Given the description of an element on the screen output the (x, y) to click on. 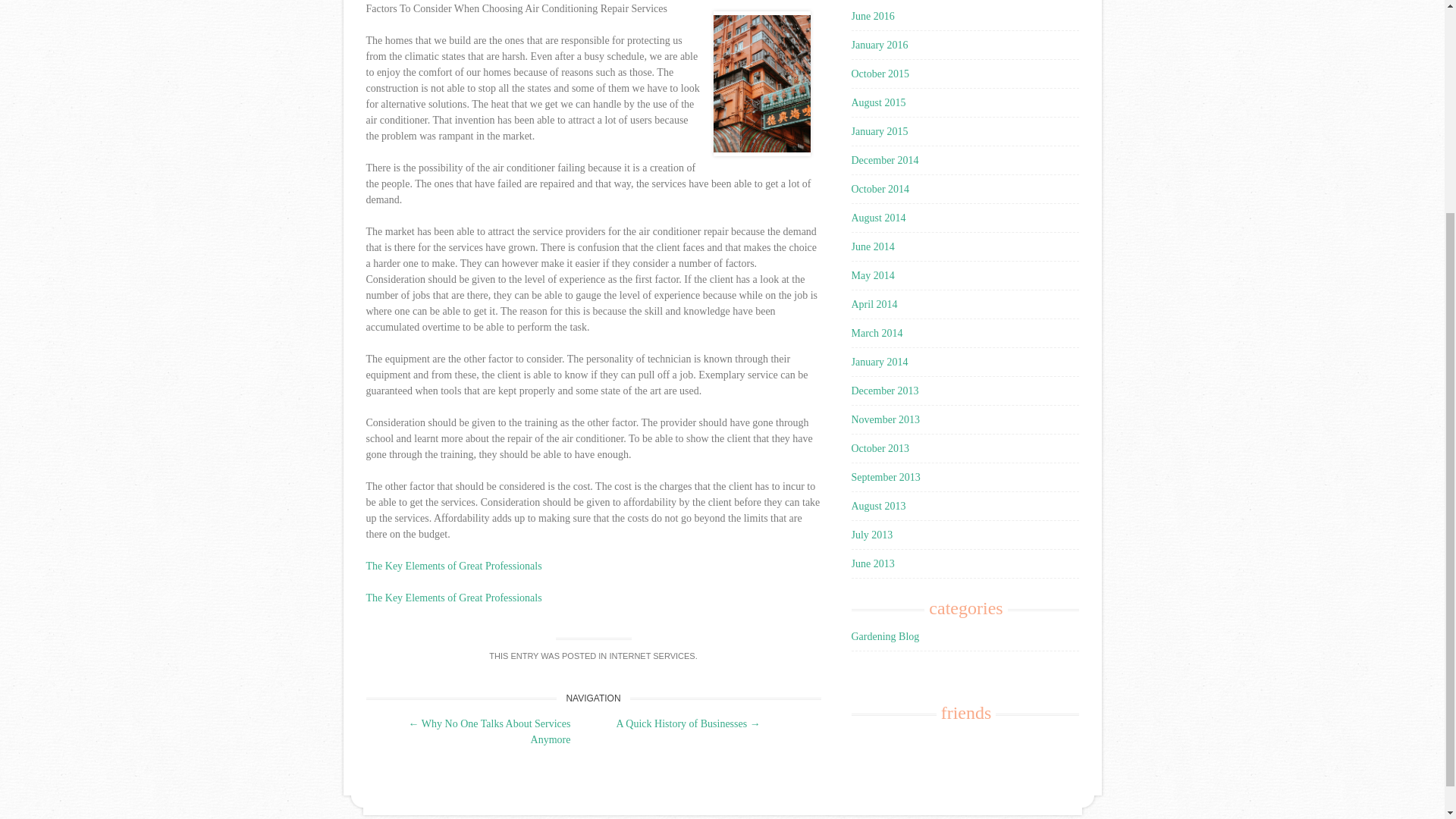
View all posts filed under Gardening Blog (884, 636)
The Key Elements of Great Professionals (453, 565)
INTERNET SERVICES (651, 655)
January 2014 (878, 361)
April 2014 (873, 304)
December 2014 (884, 160)
Gardening Blog (884, 636)
January 2015 (878, 131)
June 2014 (871, 246)
March 2014 (876, 333)
June 2013 (871, 563)
October 2014 (879, 188)
December 2013 (884, 390)
October 2015 (879, 73)
October 2013 (879, 448)
